Given the description of an element on the screen output the (x, y) to click on. 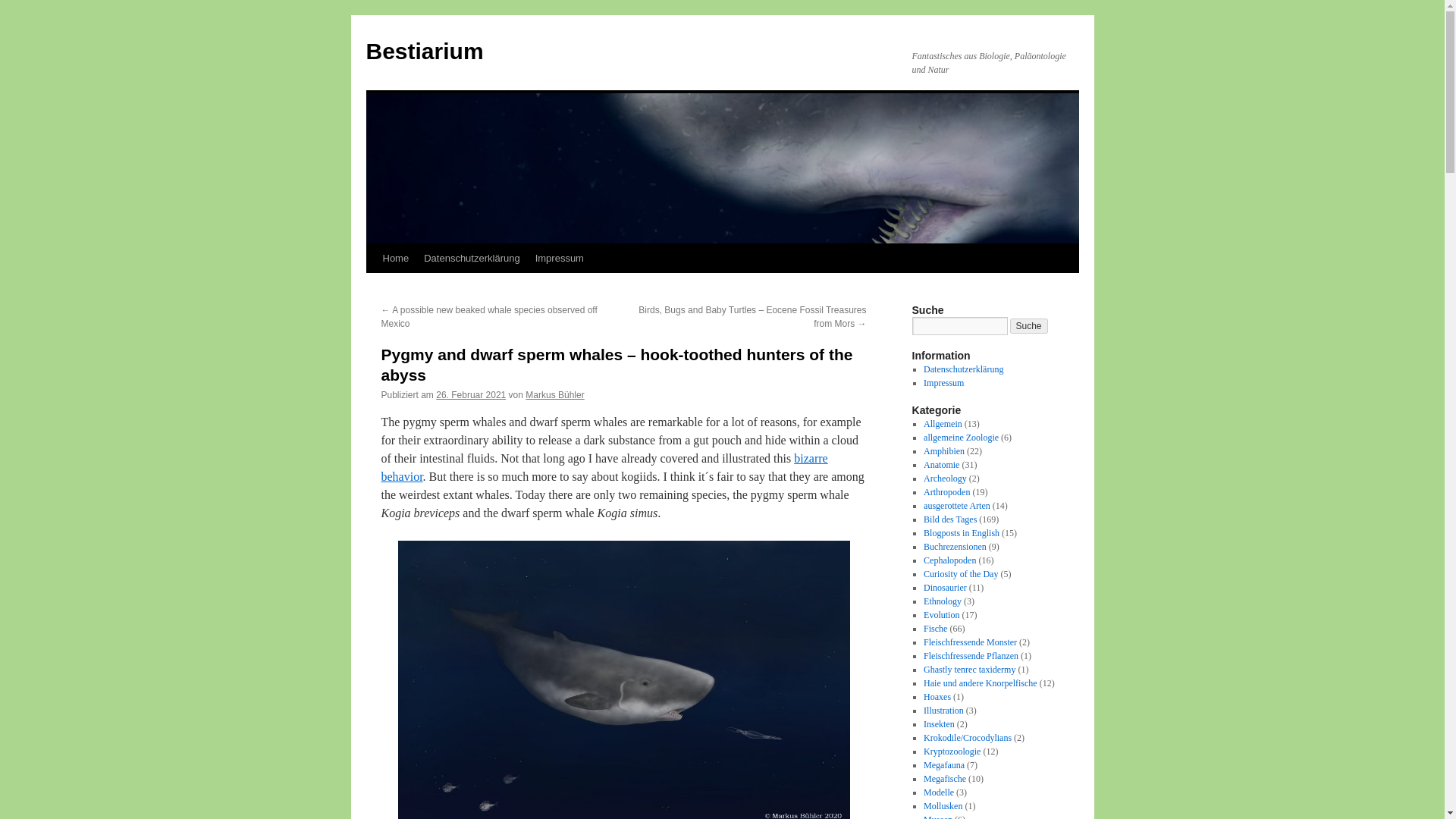
Allgemein (942, 423)
Anatomie (941, 464)
26. Februar 2021 (470, 394)
Buchrezensionen (955, 546)
Evolution (941, 614)
bizarre behavior (603, 467)
Impressum (943, 382)
Bestiarium (424, 50)
ausgerottete Arten (956, 505)
Bild des Tages (949, 519)
Ethnology (941, 601)
Home (395, 258)
Amphibien (943, 450)
Startseite (395, 258)
Dinosaurier (944, 587)
